Given the description of an element on the screen output the (x, y) to click on. 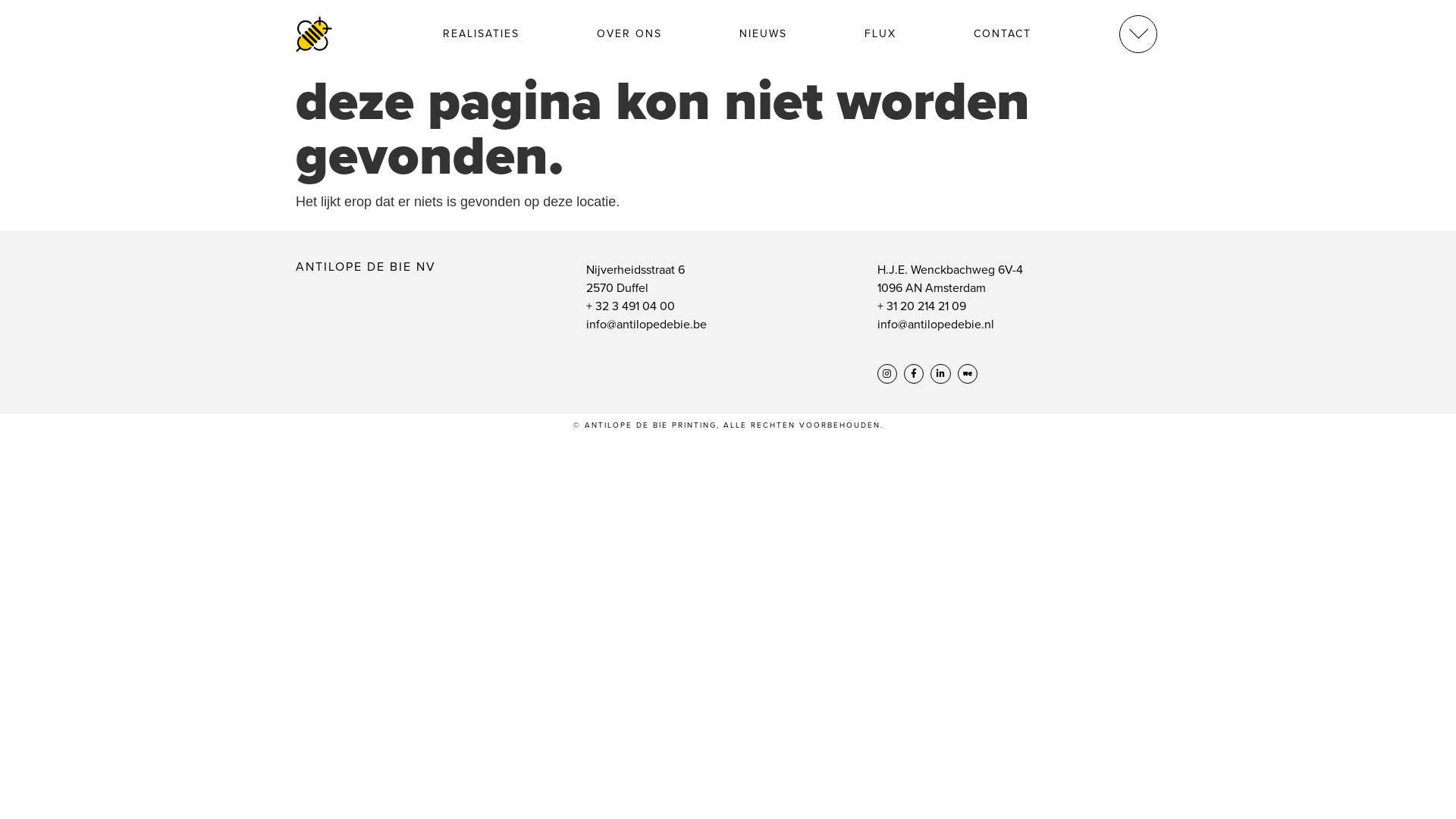
info@antilopedebie.be Element type: text (646, 323)
REALISATIES Element type: text (480, 33)
Nijverheidsstraat 6 Element type: text (635, 269)
H.J.E. Wenckbachweg 6V-4
1096 AN Amsterdam Element type: text (949, 278)
info@antilopedebie.nl Element type: text (935, 323)
+ 32 3 491 04 00 Element type: text (630, 305)
OVER ONS Element type: text (629, 33)
NIEUWS Element type: text (763, 33)
FLUX Element type: text (880, 33)
+ 31 20 214 21 09 Element type: text (921, 305)
2570 Duffel Element type: text (617, 287)
CONTACT Element type: text (1002, 33)
